Given the description of an element on the screen output the (x, y) to click on. 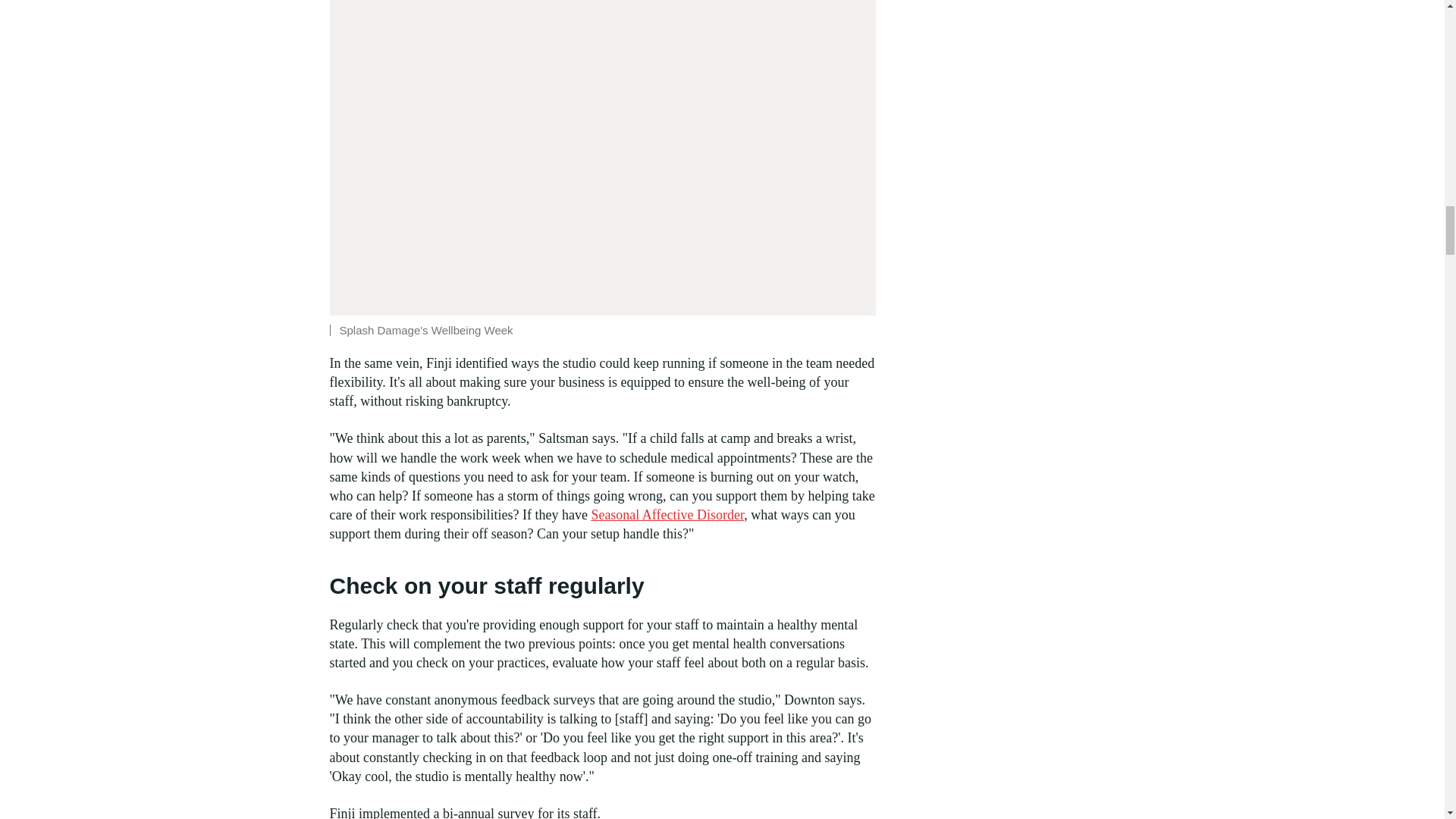
Seasonal Affective Disorder (667, 514)
